Given the description of an element on the screen output the (x, y) to click on. 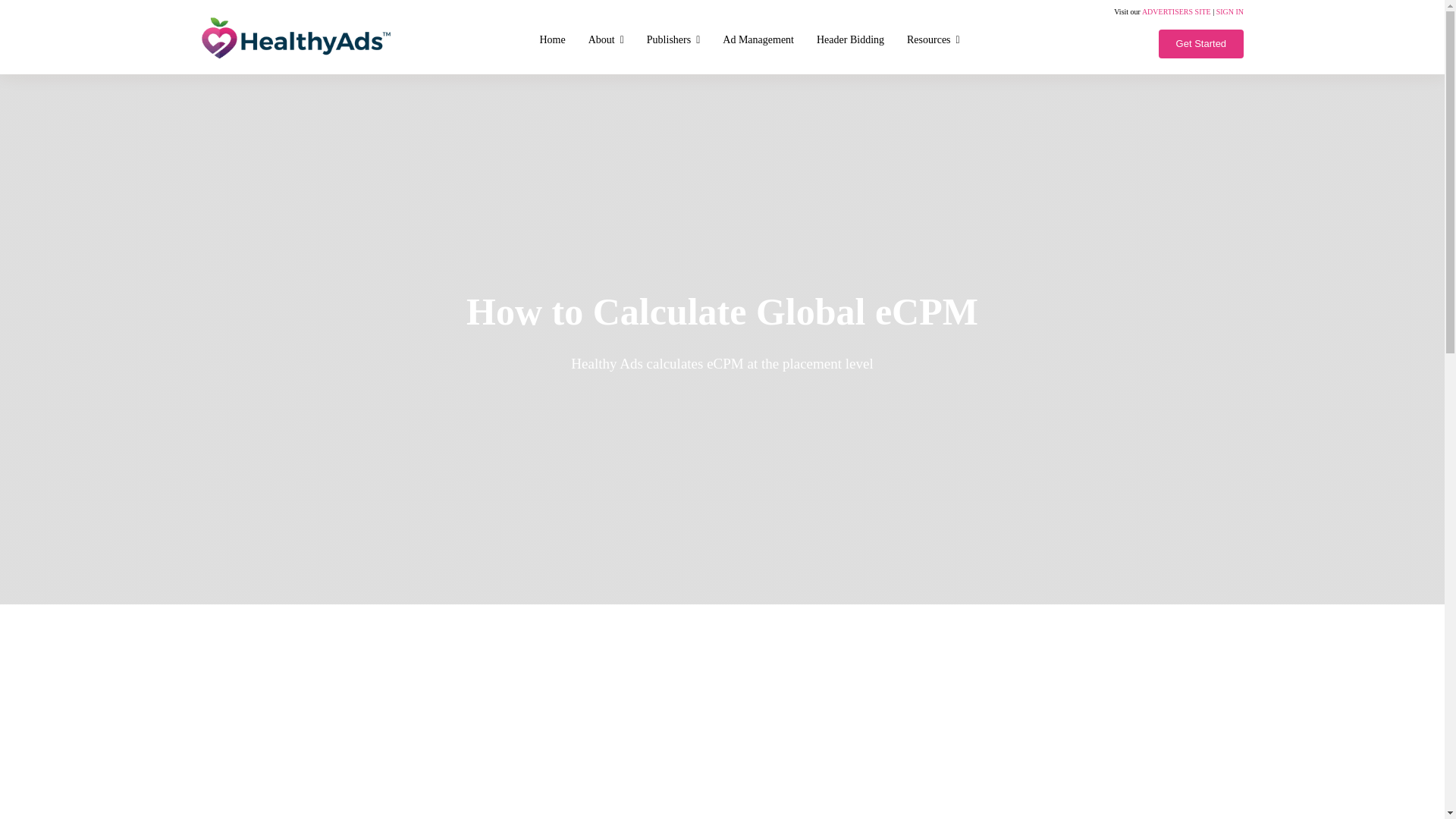
Resources (933, 39)
Home (551, 39)
Ad Management (758, 39)
Ad Management (758, 39)
Get Started (1200, 43)
Publishers (672, 39)
Header Bidding (850, 39)
Home (551, 39)
Publisher Resources (933, 39)
About (605, 39)
ADVERTISERS SITE (1176, 11)
Header Bidding (850, 39)
SIGN IN (1229, 11)
